Given the description of an element on the screen output the (x, y) to click on. 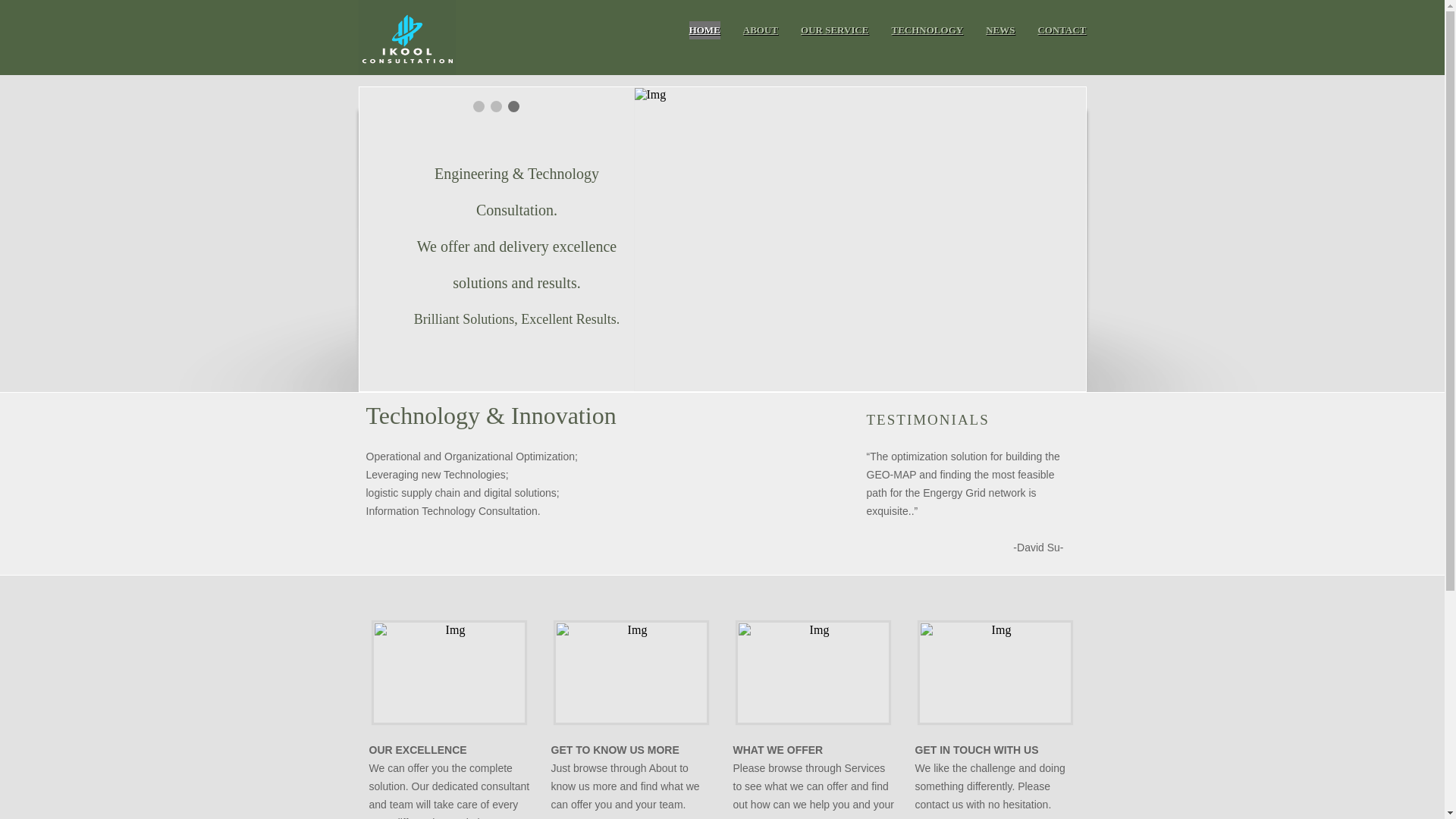
HOME Element type: text (704, 29)
TECHNOLOGY Element type: text (927, 29)
CONTACT Element type: text (1061, 29)
NEWS Element type: text (999, 29)
OUR SERVICE Element type: text (834, 29)
ABOUT Element type: text (760, 29)
